Given the description of an element on the screen output the (x, y) to click on. 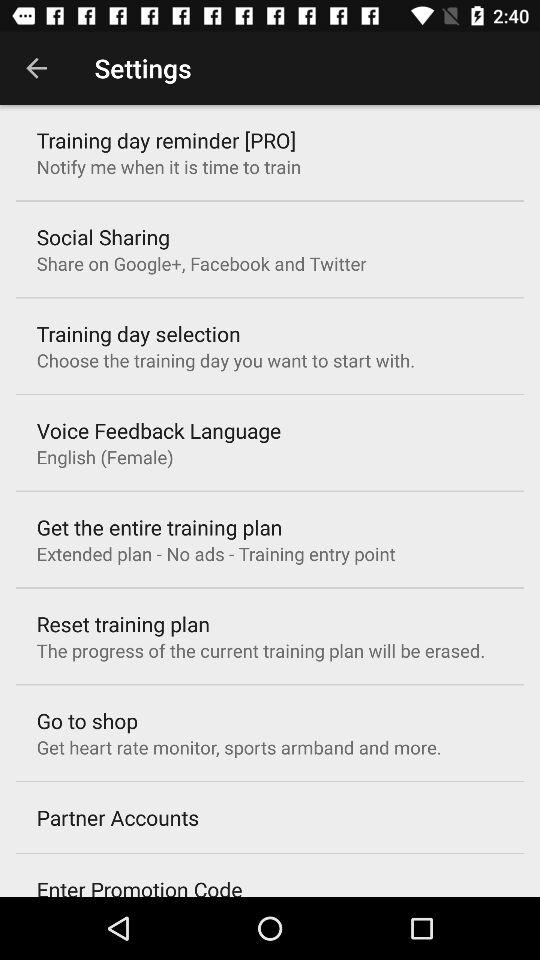
click get heart rate item (238, 747)
